Given the description of an element on the screen output the (x, y) to click on. 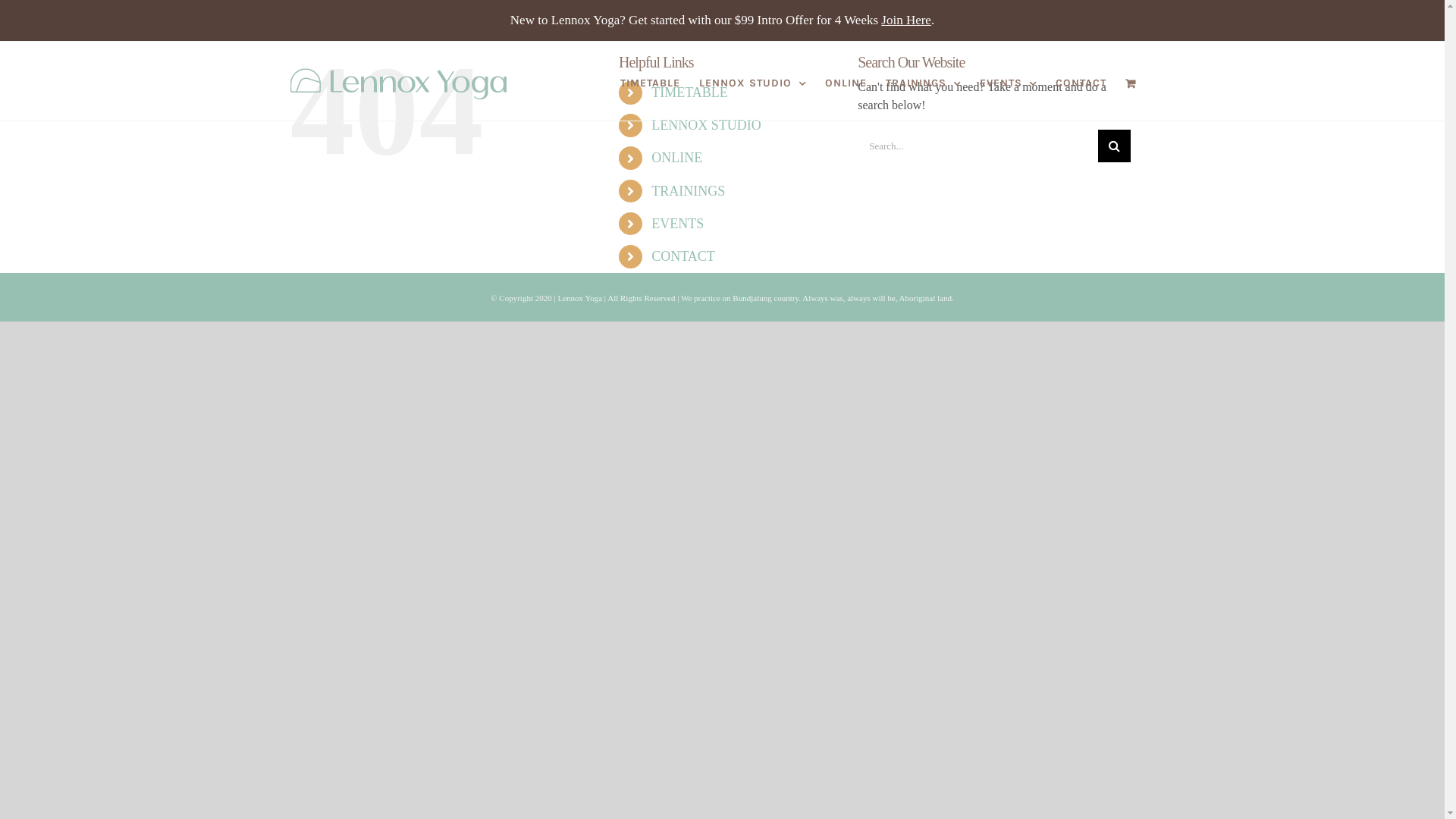
LENNOX STUDIO Element type: text (752, 83)
ONLINE Element type: text (676, 157)
TIMETABLE Element type: text (689, 92)
LENNOX STUDIO Element type: text (705, 124)
TRAININGS Element type: text (922, 83)
TIMETABLE Element type: text (650, 83)
EVENTS Element type: text (677, 223)
EVENTS Element type: text (1007, 83)
Join Here Element type: text (906, 19)
CONTACT Element type: text (1080, 83)
ONLINE Element type: text (845, 83)
CONTACT Element type: text (683, 255)
TRAININGS Element type: text (687, 190)
